Given the description of an element on the screen output the (x, y) to click on. 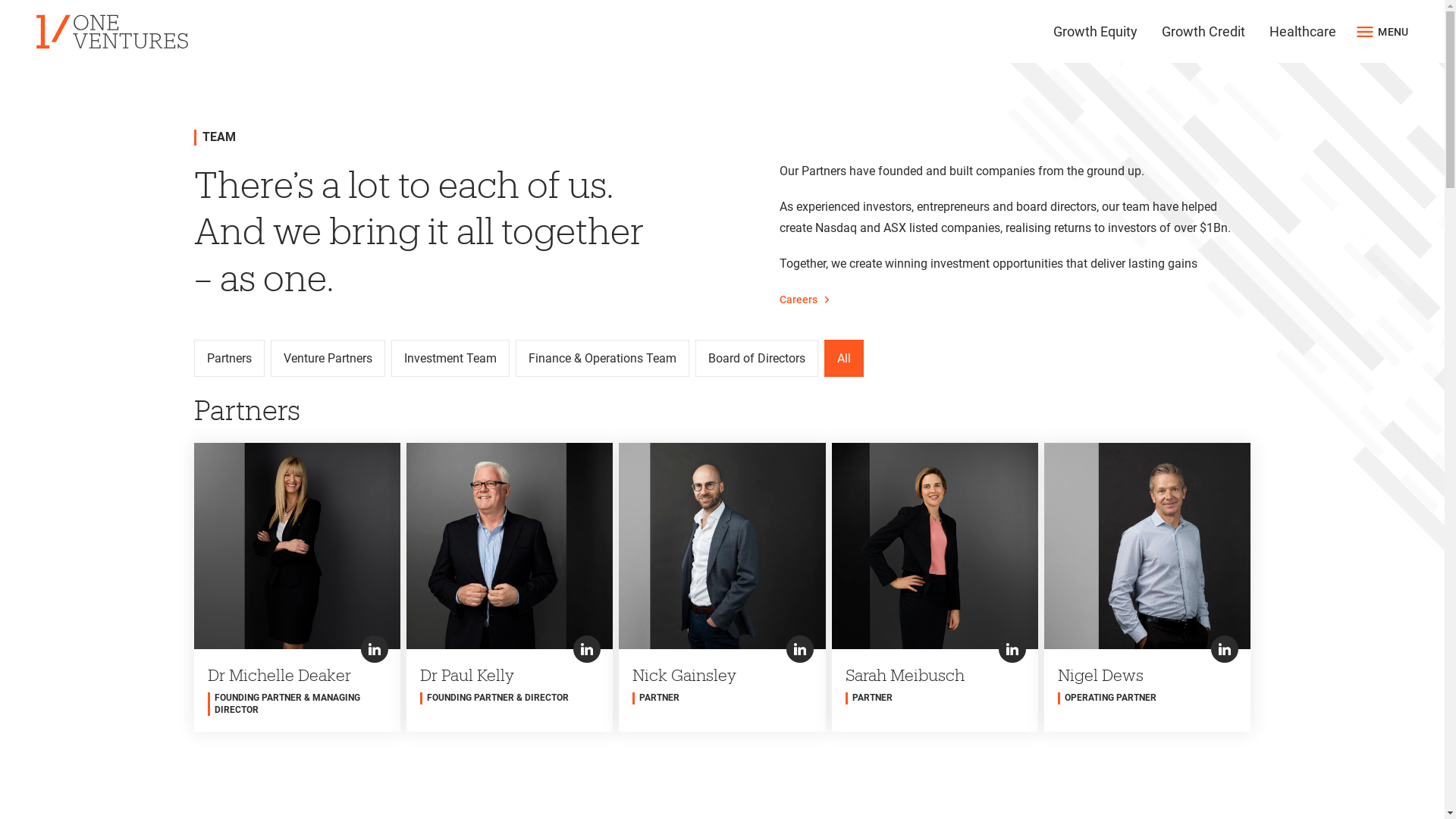
Partners
Partners Element type: text (229, 357)
Growth Credit Element type: text (1203, 31)
Investment Team
Investment Team Element type: text (450, 357)
Board of Directors
Board of Directors Element type: text (755, 357)
Venture Partners
Venture Partners Element type: text (326, 357)
Finance & Operations Team
Finance & Operations Team Element type: text (602, 357)
Careers Element type: text (806, 300)
Growth Equity Element type: text (1095, 31)
Healthcare Element type: text (1302, 31)
All
All Element type: text (842, 357)
